Given the description of an element on the screen output the (x, y) to click on. 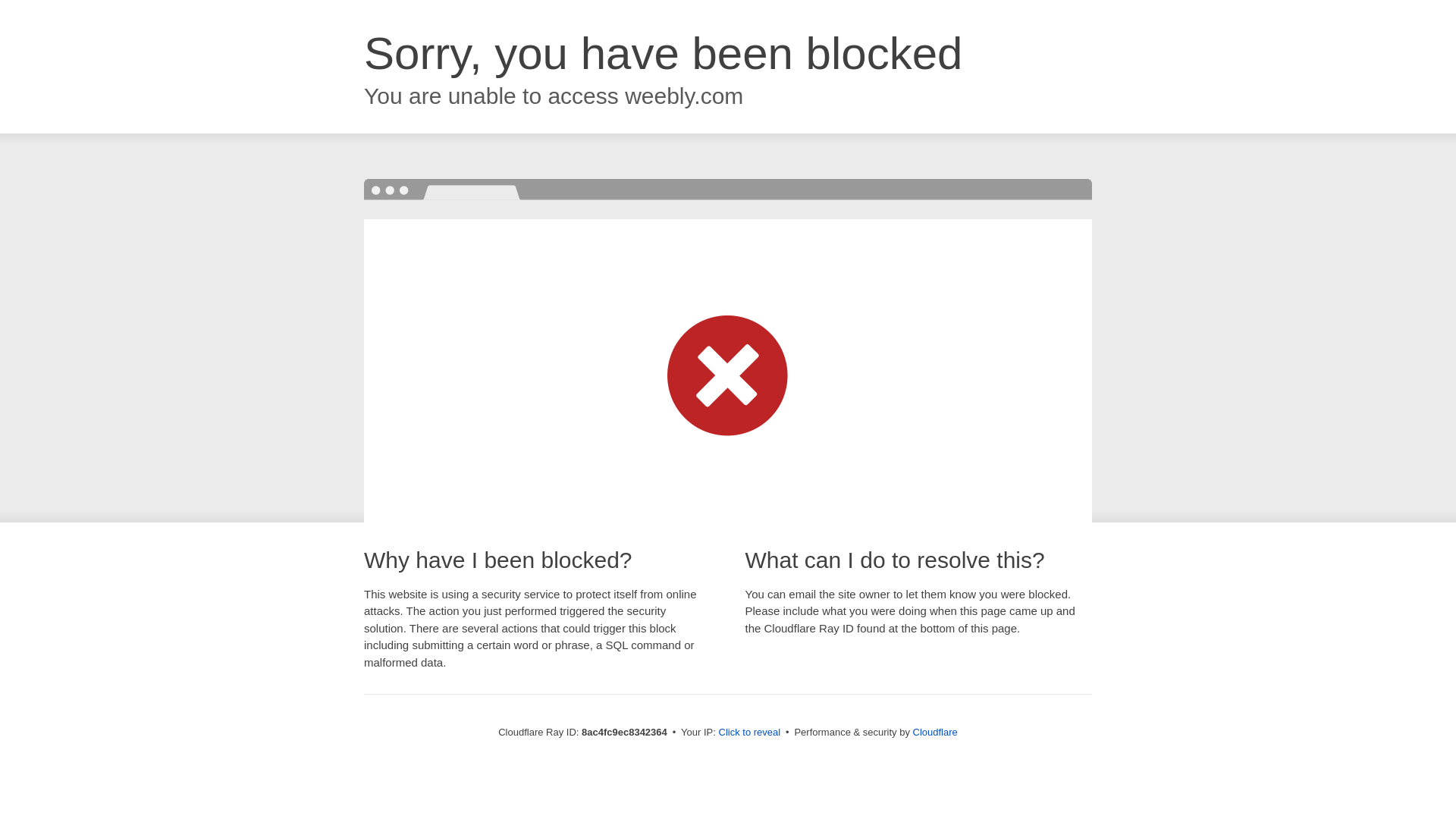
Cloudflare (935, 731)
Click to reveal (749, 732)
